Given the description of an element on the screen output the (x, y) to click on. 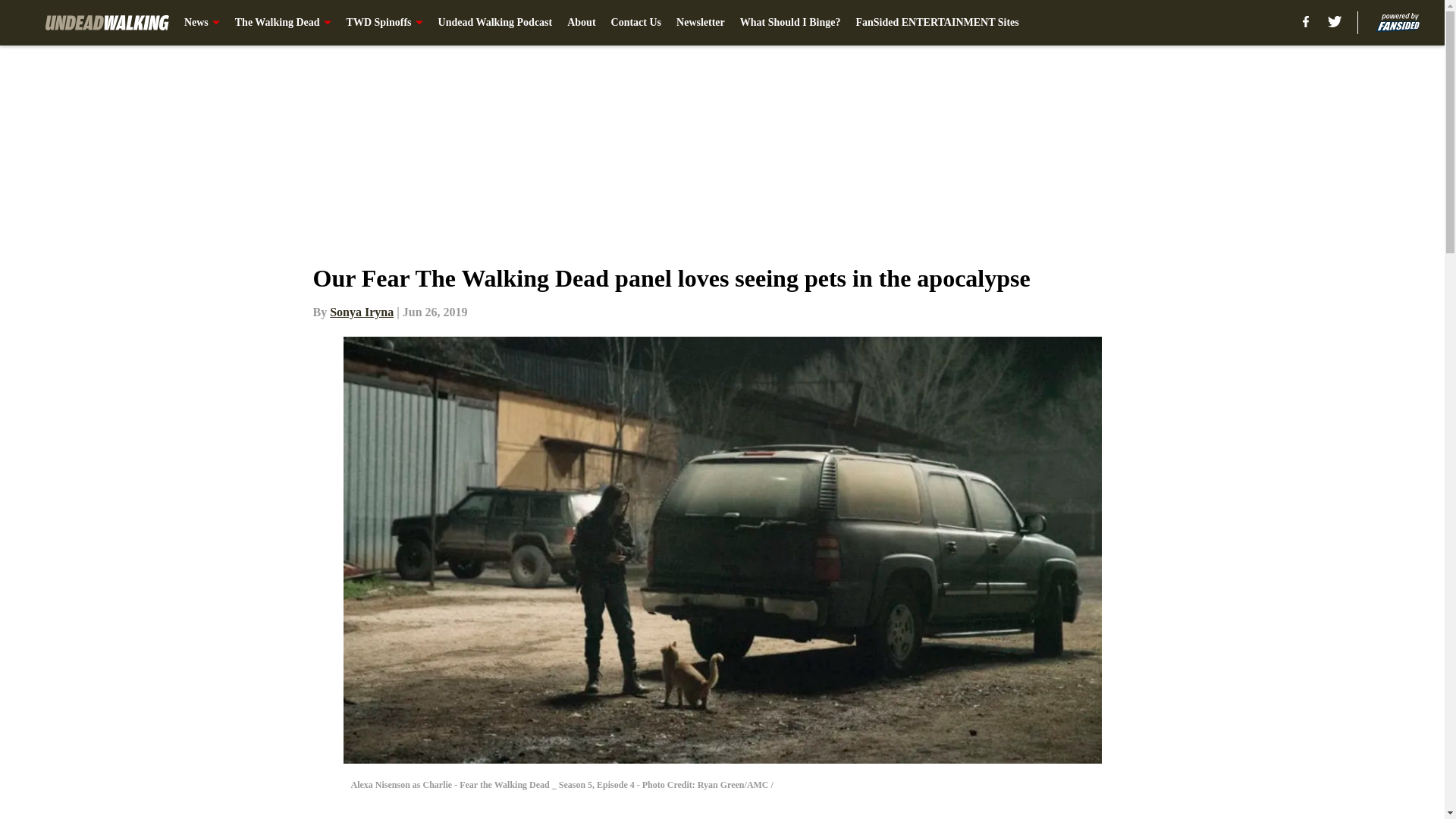
Undead Walking Podcast (495, 22)
Contact Us (636, 22)
FanSided ENTERTAINMENT Sites (936, 22)
About (581, 22)
Newsletter (701, 22)
What Should I Binge? (790, 22)
Sonya Iryna (361, 311)
